Given the description of an element on the screen output the (x, y) to click on. 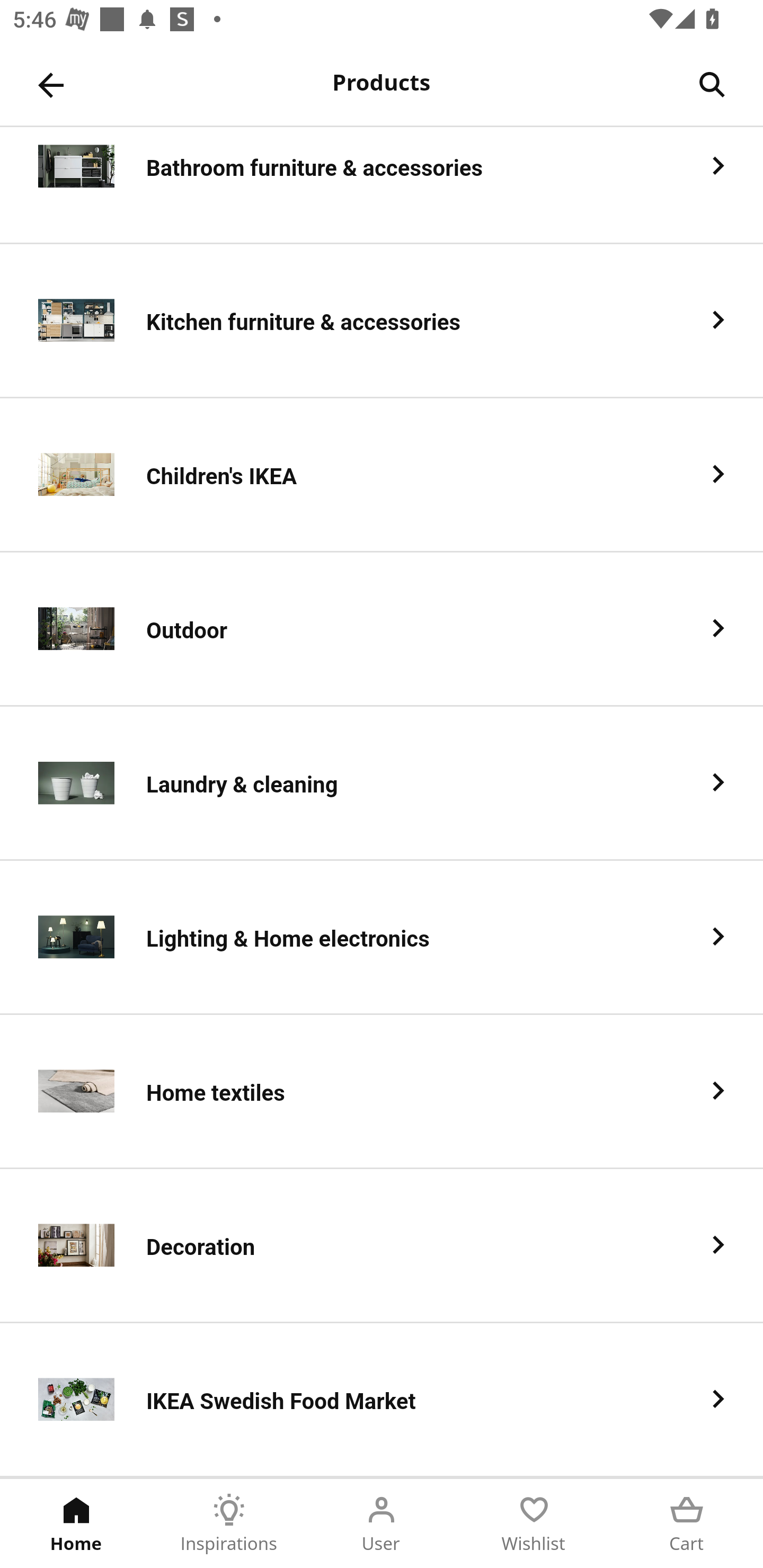
Bathroom furniture & accessories (381, 185)
Kitchen furniture & accessories (381, 321)
Children's IKEA (381, 474)
Outdoor (381, 629)
Laundry & cleaning (381, 783)
Lighting & Home electronics (381, 937)
Home textiles (381, 1091)
Decoration (381, 1246)
IKEA Swedish Food Market (381, 1400)
Home
Tab 1 of 5 (76, 1522)
Inspirations
Tab 2 of 5 (228, 1522)
User
Tab 3 of 5 (381, 1522)
Wishlist
Tab 4 of 5 (533, 1522)
Cart
Tab 5 of 5 (686, 1522)
